Given the description of an element on the screen output the (x, y) to click on. 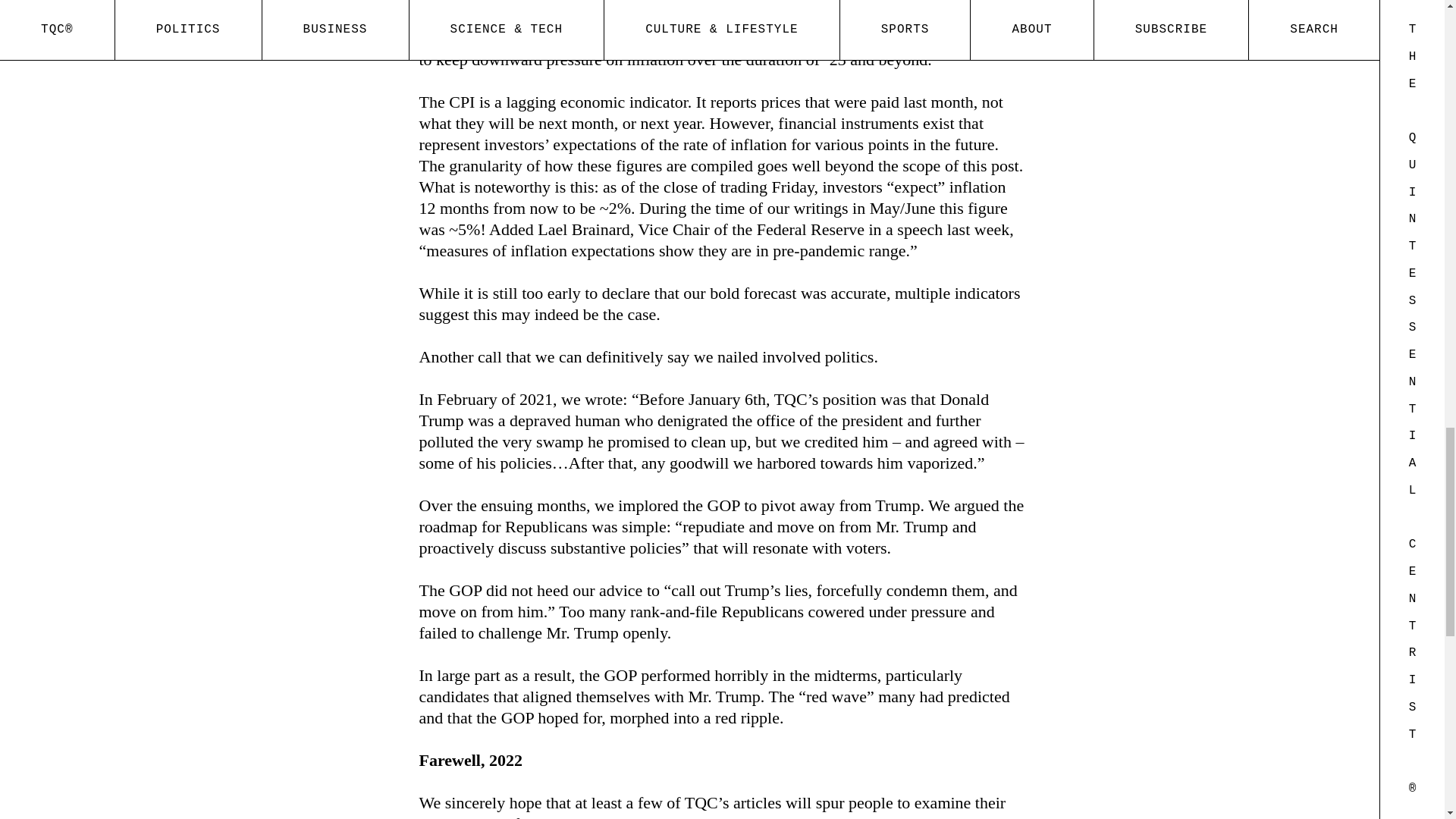
inflation posts (731, 38)
